Given the description of an element on the screen output the (x, y) to click on. 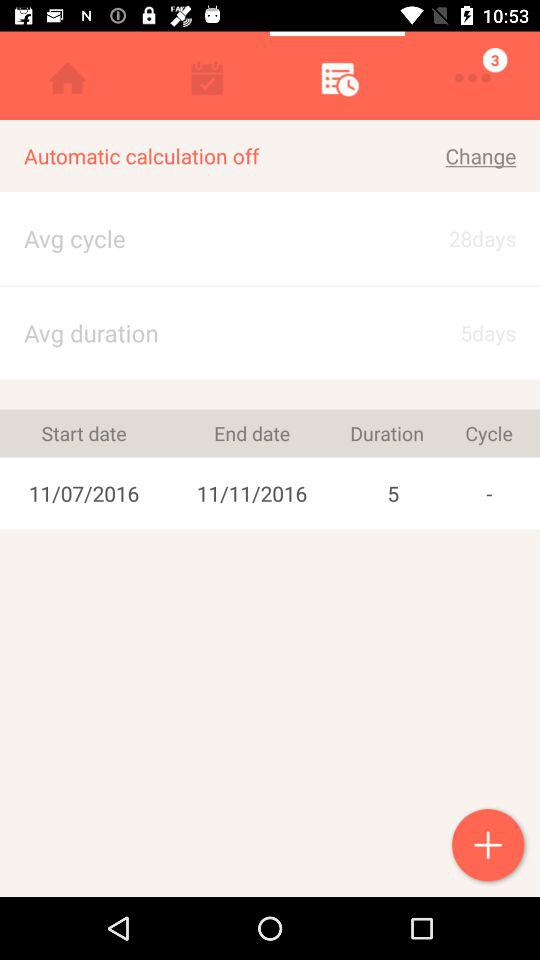
turn on the app to the left of change (204, 156)
